Given the description of an element on the screen output the (x, y) to click on. 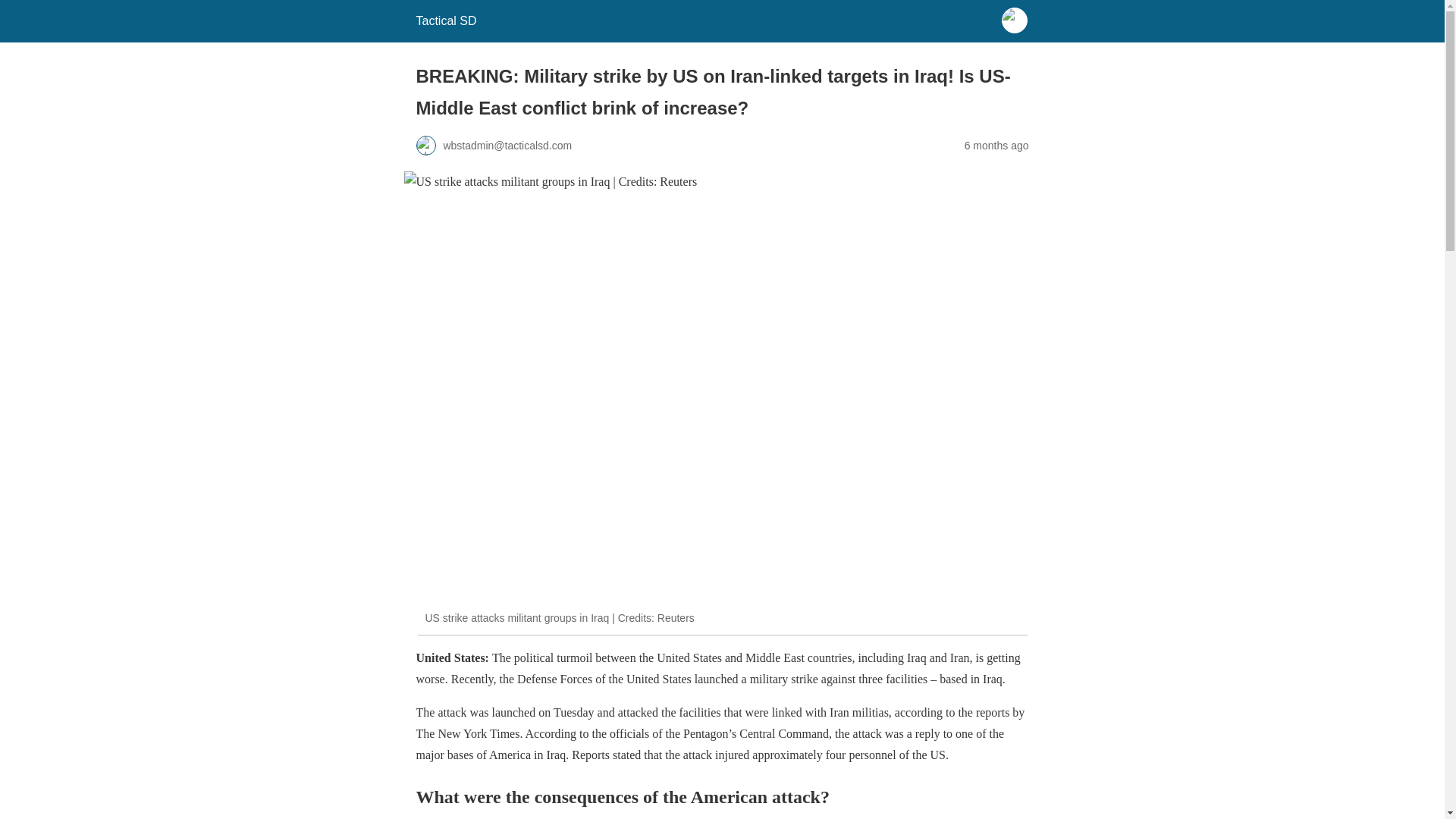
Tactical SD (445, 20)
